Given the description of an element on the screen output the (x, y) to click on. 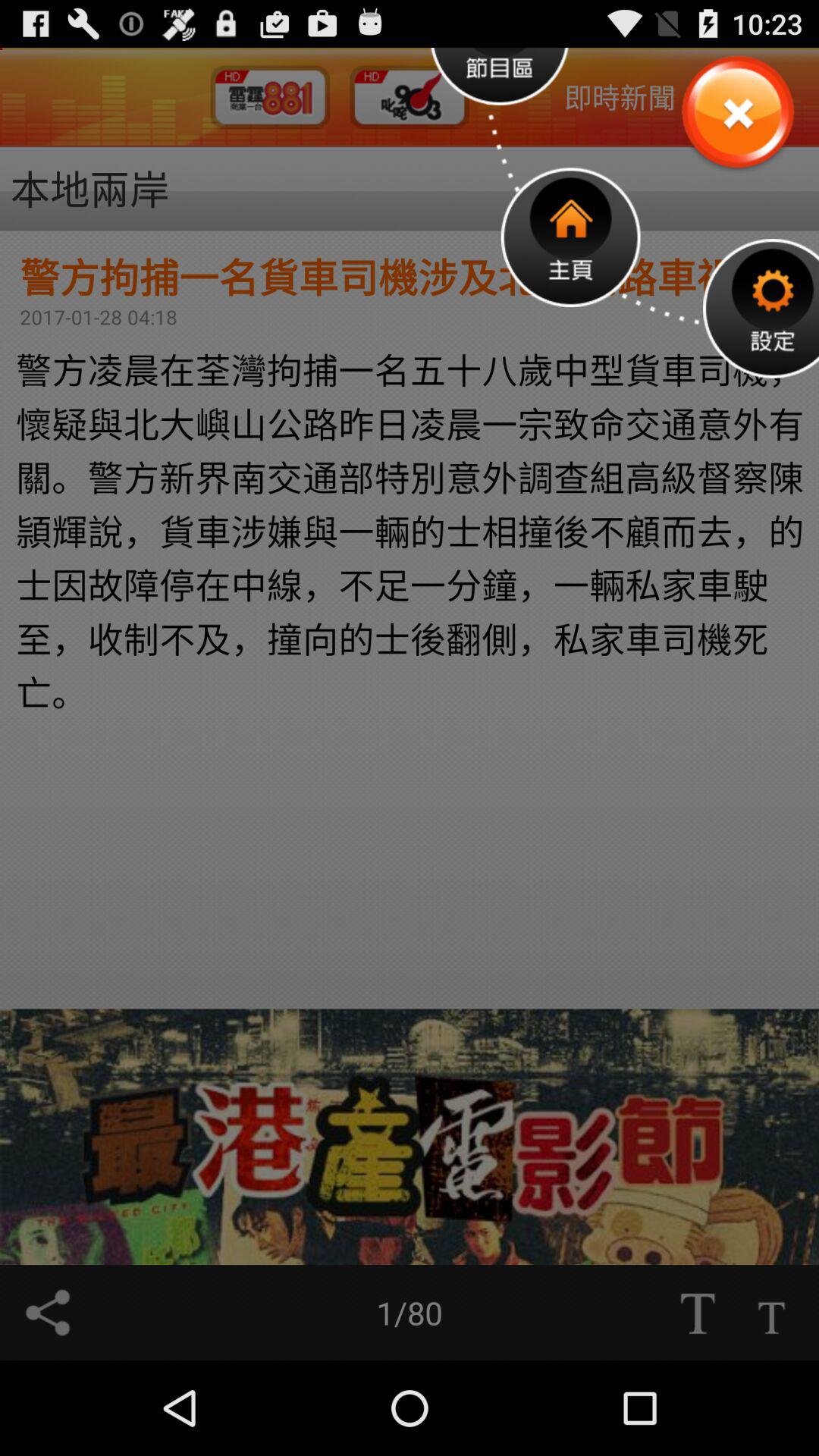
choose bigger font size (697, 1312)
